Given the description of an element on the screen output the (x, y) to click on. 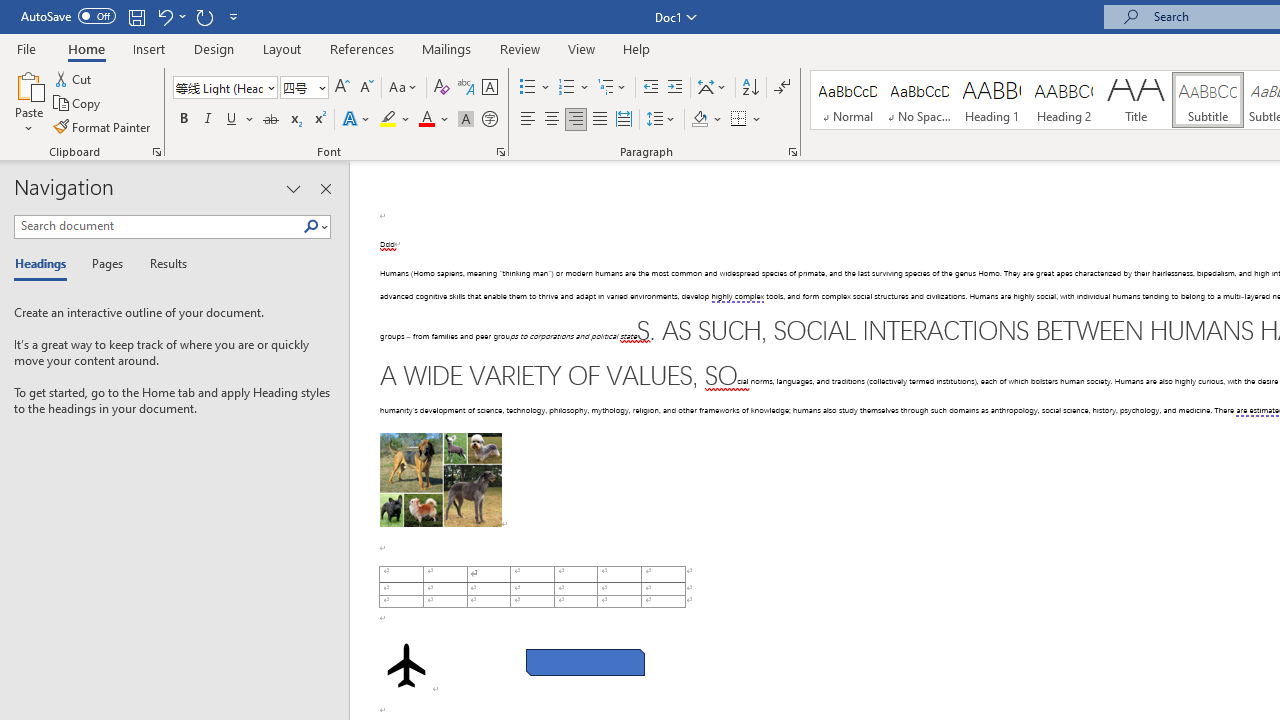
Text Effects and Typography (357, 119)
Cut (73, 78)
Font Color Red (426, 119)
